Given the description of an element on the screen output the (x, y) to click on. 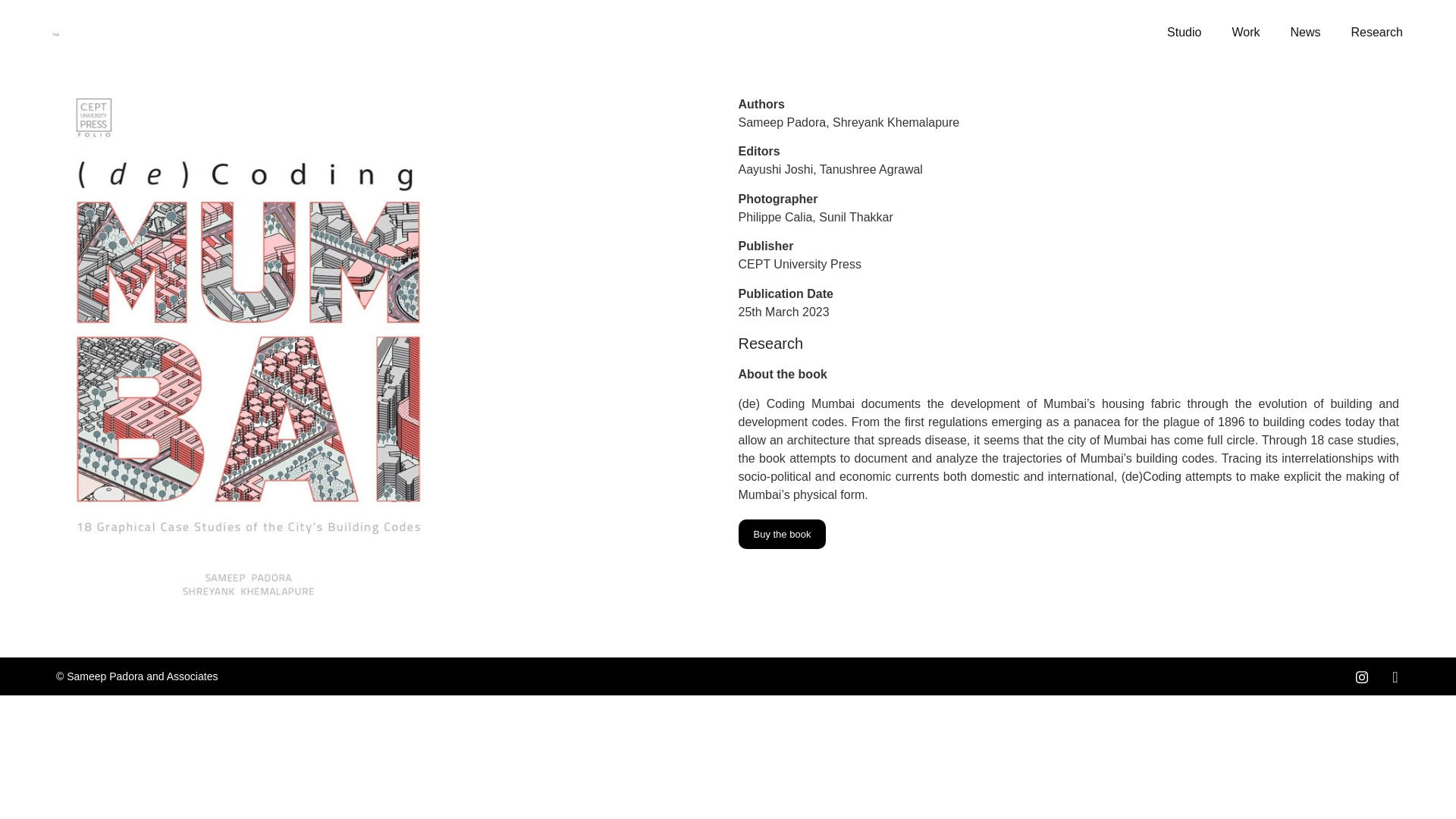
Work (1245, 32)
News (1305, 32)
Studio (1183, 32)
Research (1377, 32)
